Given the description of an element on the screen output the (x, y) to click on. 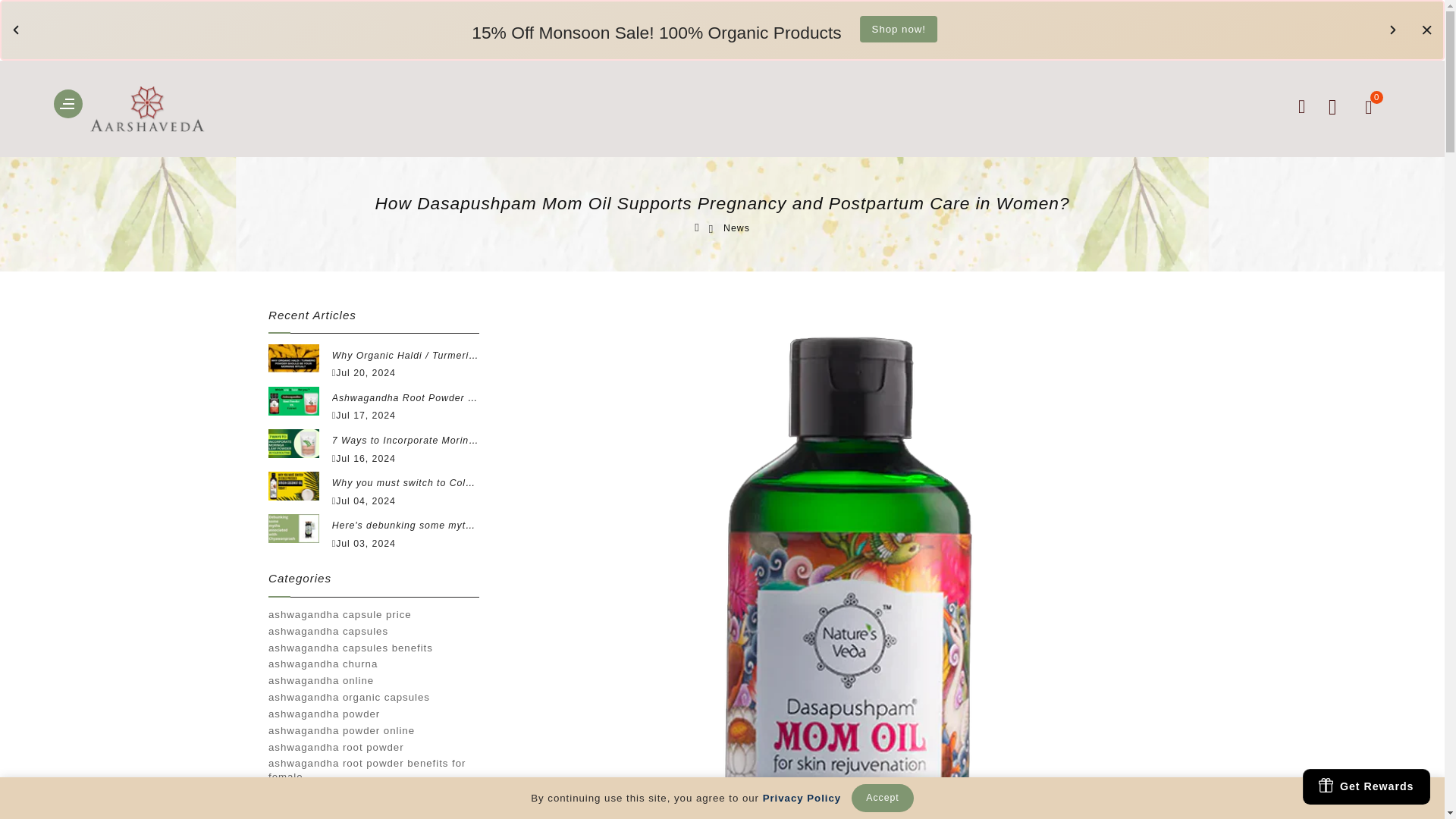
Shop now! (946, 30)
aarshaveda (154, 114)
